Given the description of an element on the screen output the (x, y) to click on. 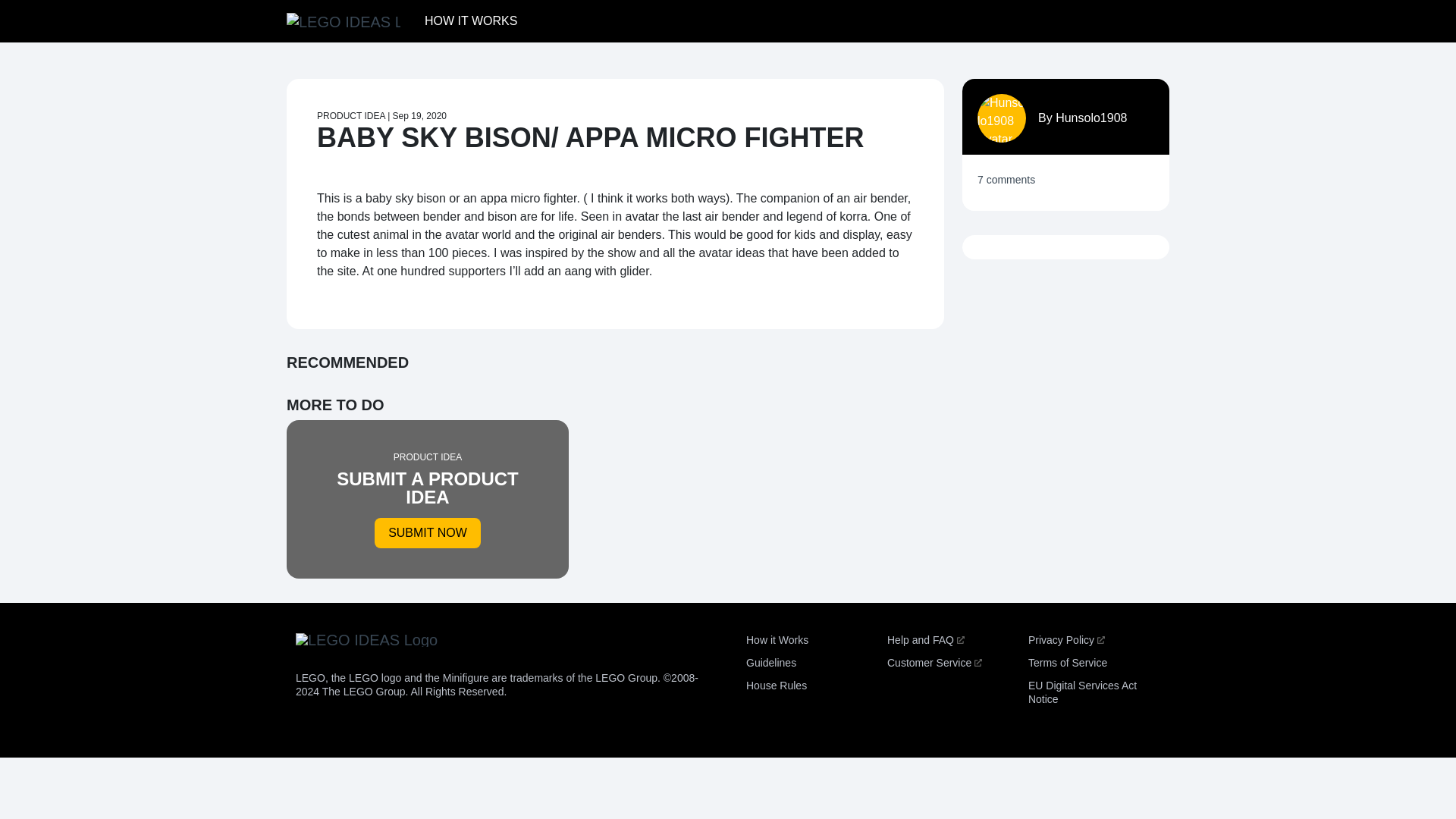
EU Digital Services Act Notice (427, 499)
2020-09-19T05:40:25.789567Z (1082, 692)
Terms of Service (419, 115)
Hunsolo1908 (1066, 662)
Privacy Policy (1090, 117)
HOW IT WORKS (1066, 639)
House Rules (470, 20)
How it Works (775, 685)
Help and FAQ (776, 639)
How It Works (924, 639)
Customer Service (470, 20)
Guidelines (933, 662)
